Given the description of an element on the screen output the (x, y) to click on. 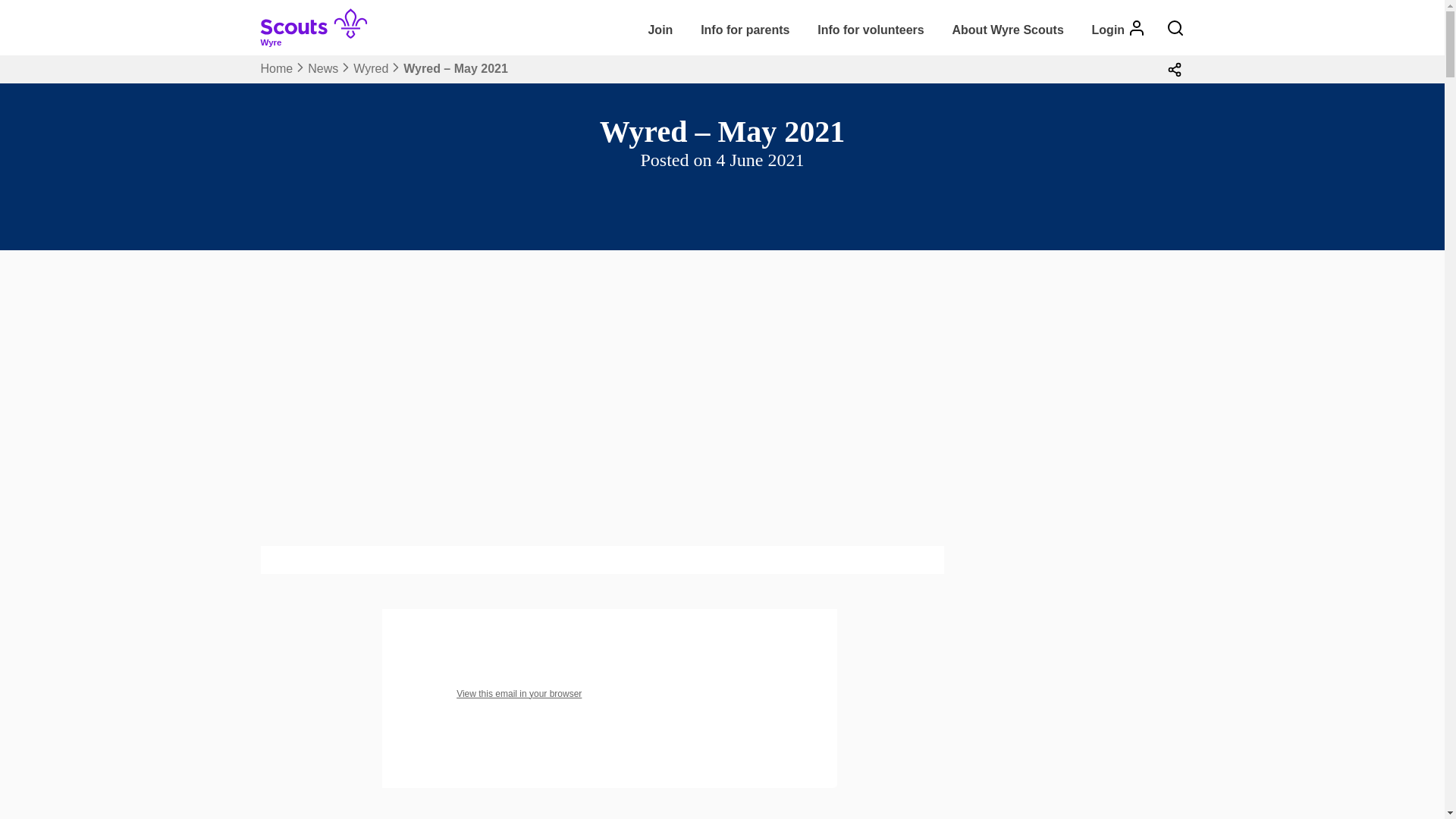
Info for volunteers (870, 29)
About Wyre Scouts (1008, 29)
Info for parents (744, 29)
Home (277, 68)
Wyre (320, 38)
